Given the description of an element on the screen output the (x, y) to click on. 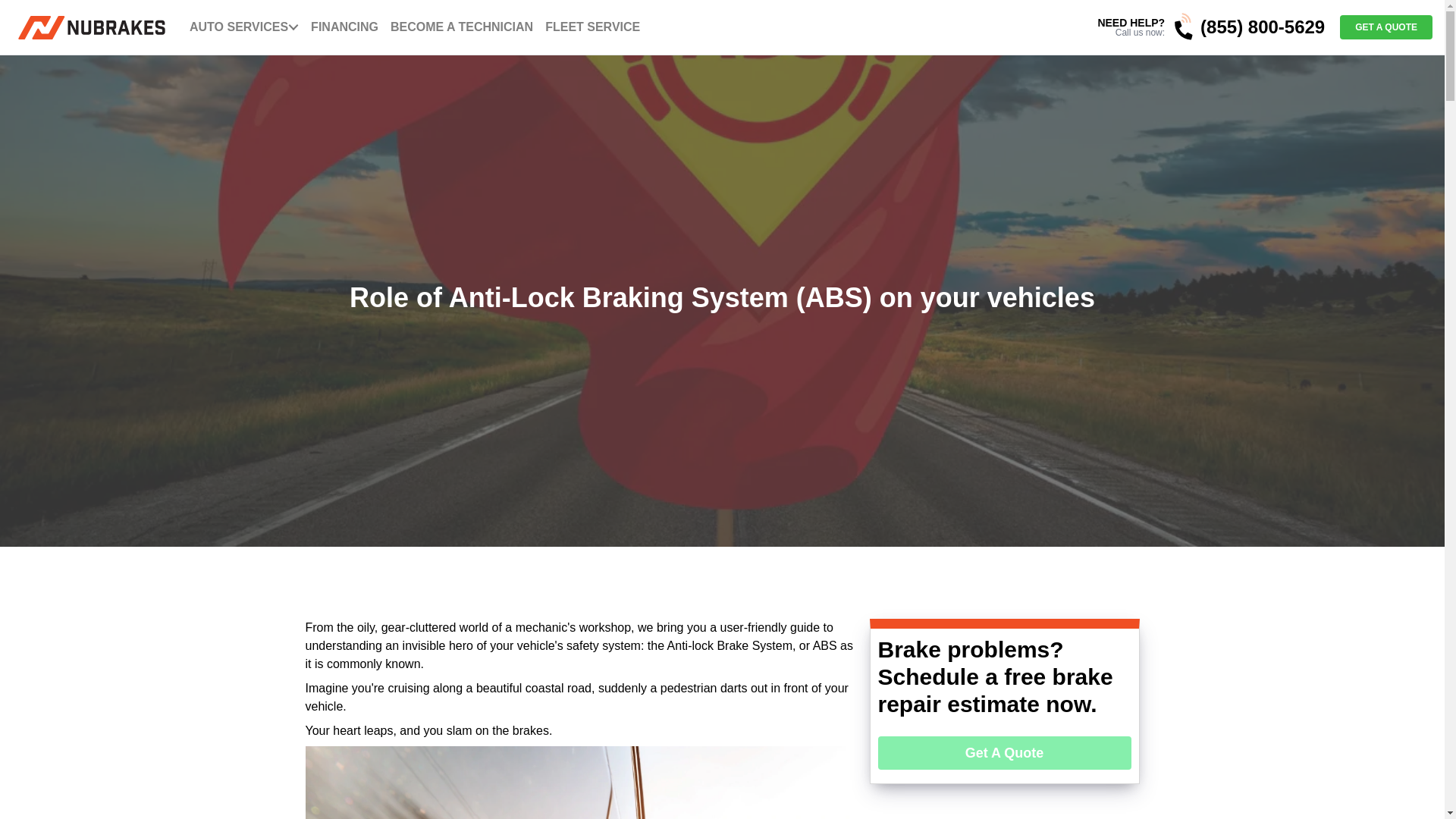
FINANCING (344, 27)
GET A QUOTE (1385, 27)
Get A Quote (1004, 752)
BECOME A TECHNICIAN (461, 27)
Get A Quote (1004, 753)
FLEET SERVICE (592, 27)
AUTO SERVICES (238, 27)
